Given the description of an element on the screen output the (x, y) to click on. 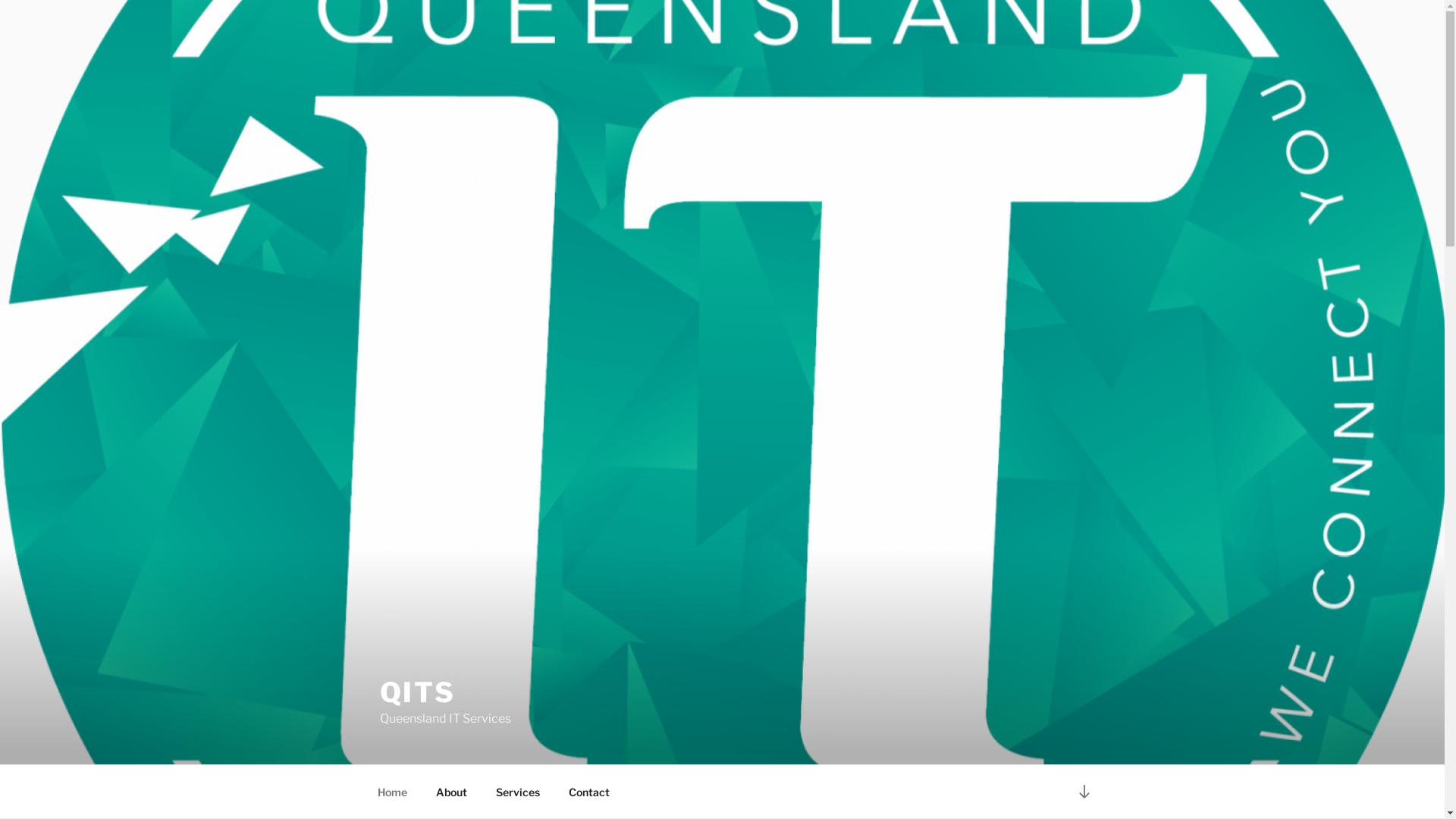
Home Element type: text (392, 791)
Contact Element type: text (588, 791)
Services Element type: text (517, 791)
About Element type: text (451, 791)
Scroll down to content Element type: text (1083, 790)
QITS Element type: text (417, 692)
